Given the description of an element on the screen output the (x, y) to click on. 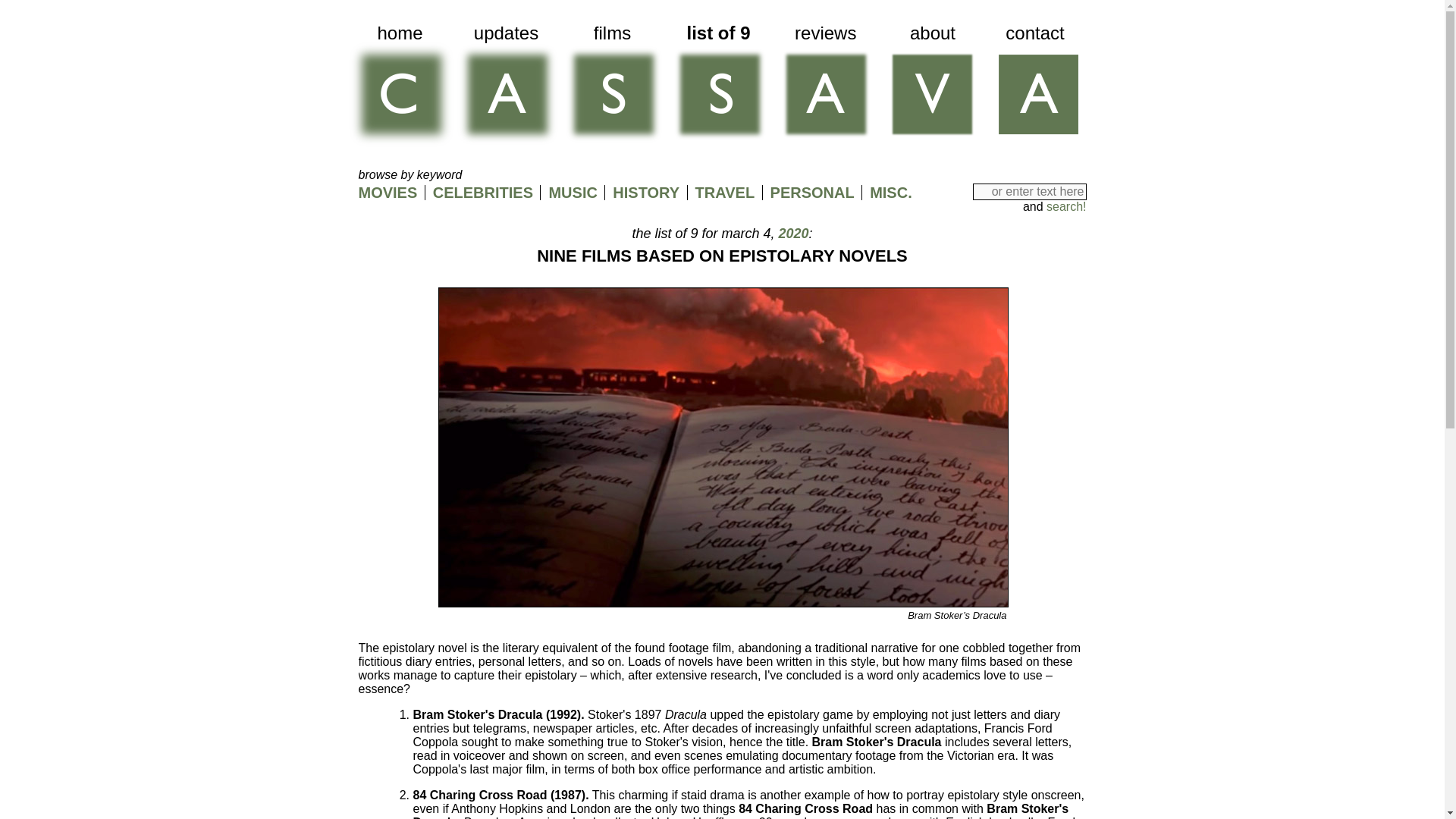
MOVIES (387, 192)
HISTORY (645, 192)
TRAVEL (725, 192)
MUSIC (572, 192)
CELEBRITIES (482, 192)
films (611, 85)
home (399, 85)
